Given the description of an element on the screen output the (x, y) to click on. 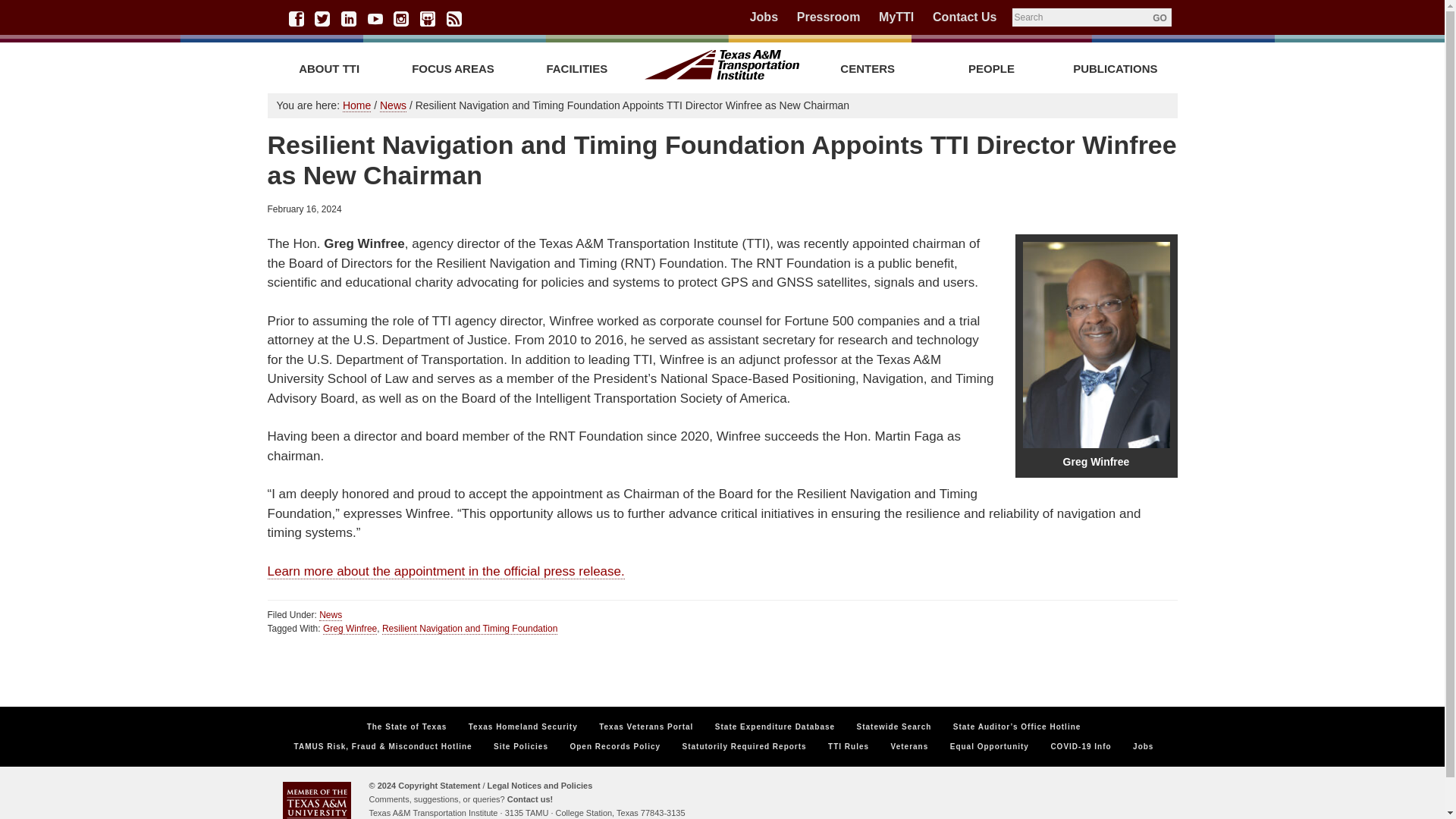
ABOUT TTI (328, 68)
TTI LinkedIn (348, 18)
YouTube (375, 18)
Pressroom (828, 16)
Twitter (322, 18)
GO (1159, 17)
TTI Facebook (295, 18)
TTI SlideShare (427, 18)
Facebook (295, 18)
